Given the description of an element on the screen output the (x, y) to click on. 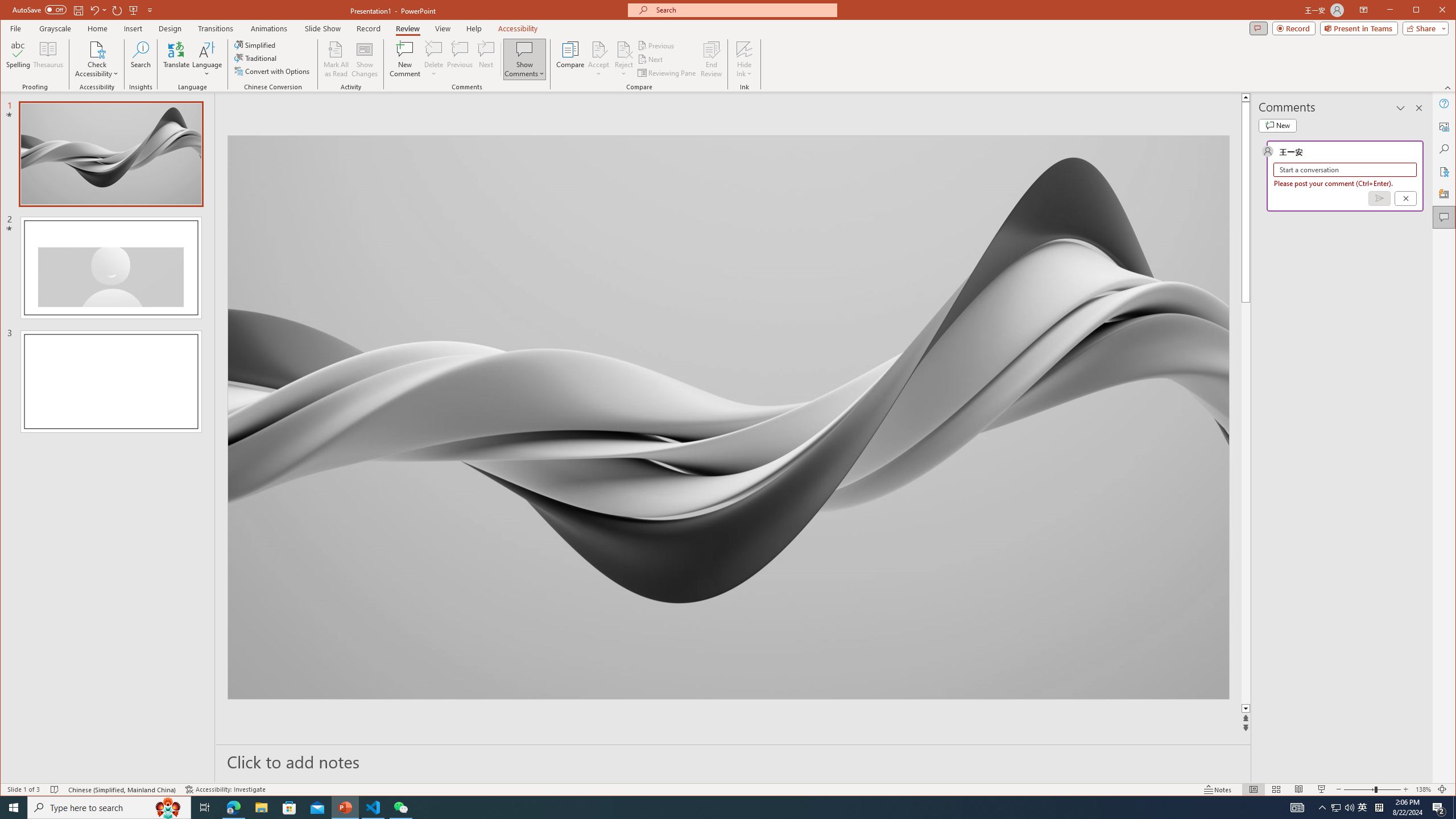
Traditional (256, 57)
